Given the description of an element on the screen output the (x, y) to click on. 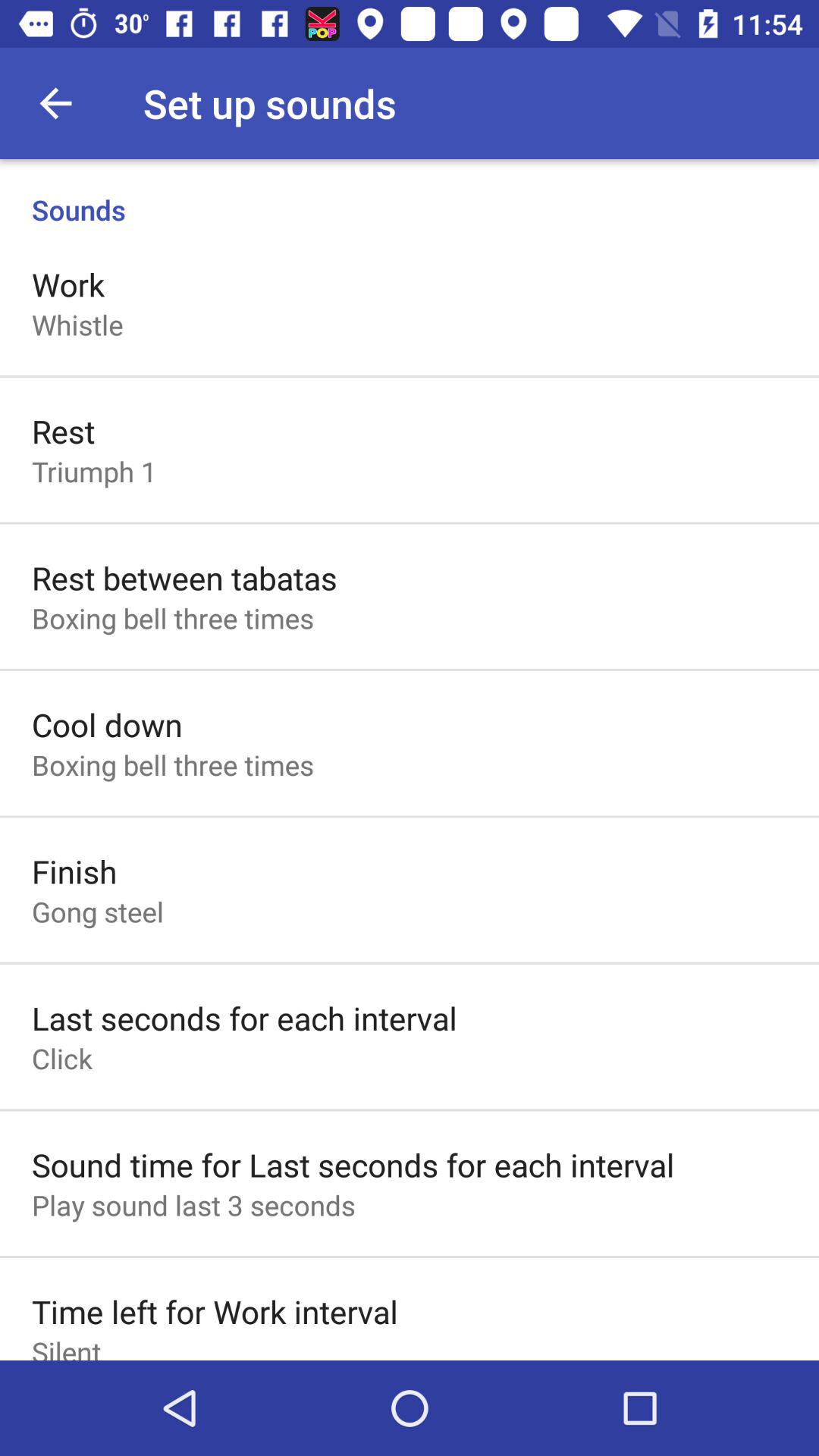
tap item above the gong steel (74, 870)
